Given the description of an element on the screen output the (x, y) to click on. 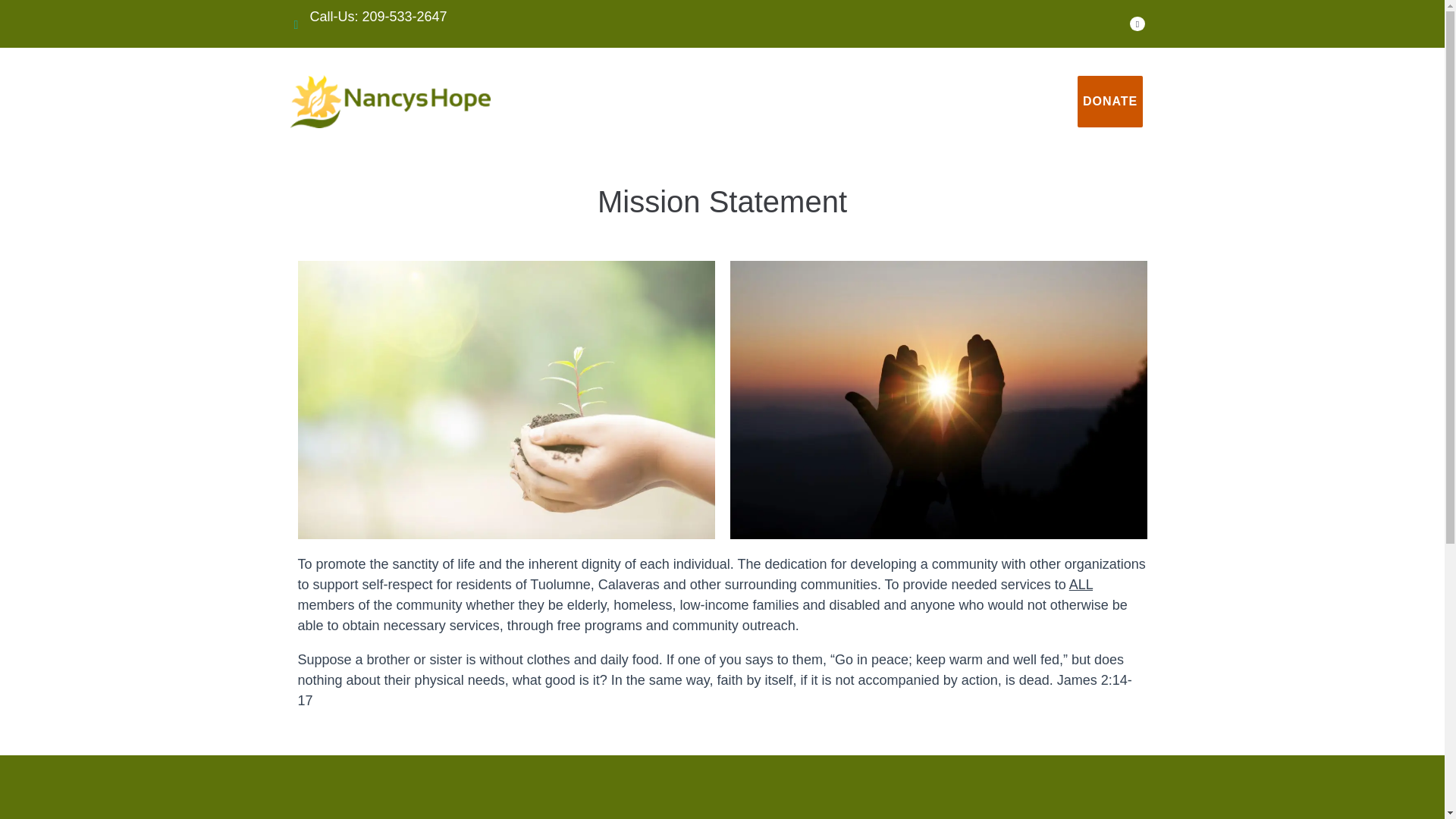
209-533-2647 (404, 16)
DONATE (1109, 101)
